Given the description of an element on the screen output the (x, y) to click on. 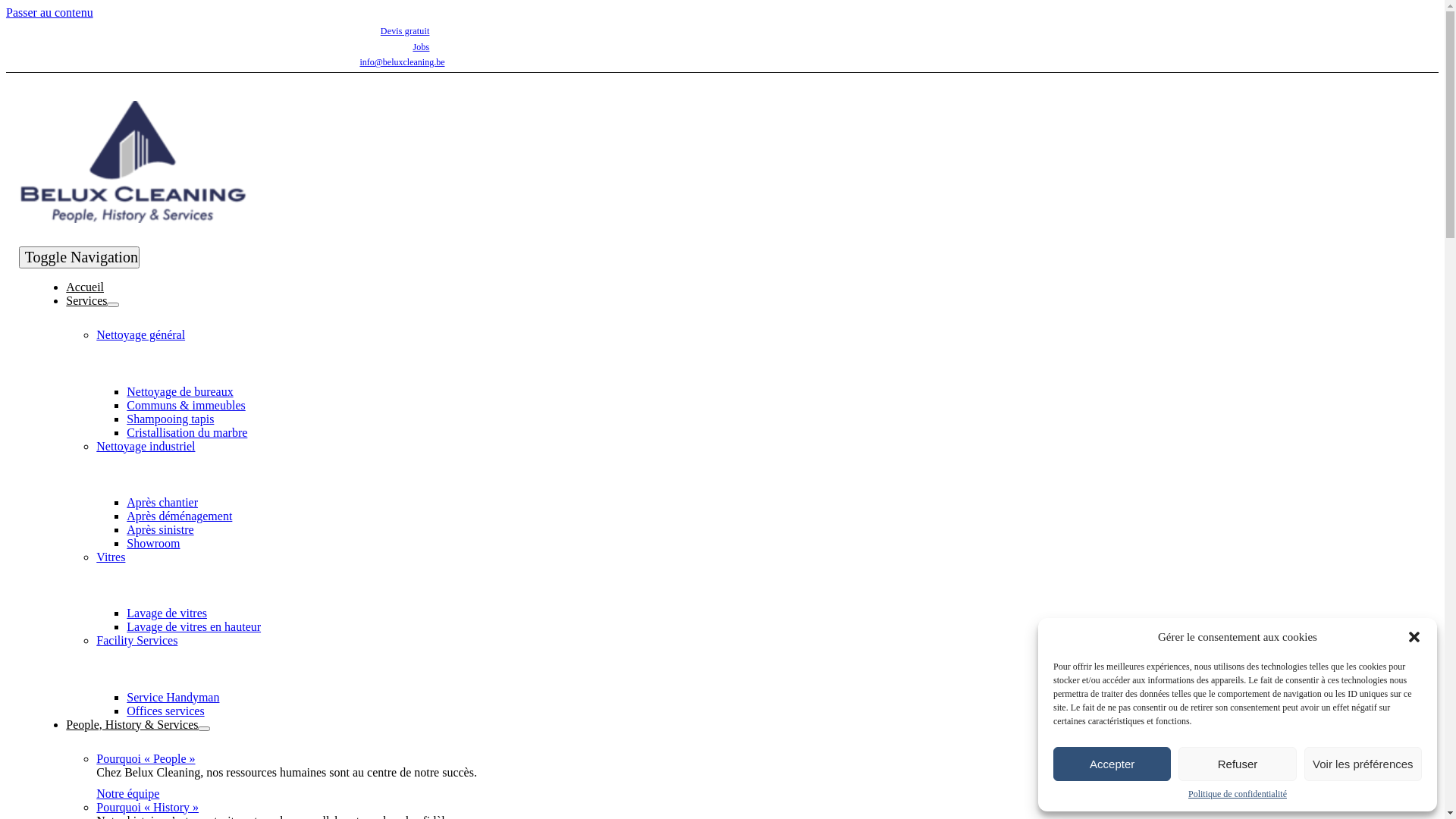
Toggle Navigation Element type: text (78, 257)
Vitres Element type: text (110, 556)
Facility Services Element type: text (136, 639)
Nettoyage industriel Element type: text (145, 445)
Offices services Element type: text (164, 709)
Passer au contenu Element type: text (49, 12)
Communs & immeubles Element type: text (185, 404)
Shampooing tapis Element type: text (169, 418)
Lavage de vitres en hauteur Element type: text (193, 626)
Showroom Element type: text (152, 542)
Accueil Element type: text (84, 286)
Nettoyage de bureaux Element type: text (179, 391)
Service Handyman Element type: text (172, 696)
Services Element type: text (85, 300)
Cristallisation du marbre Element type: text (186, 432)
Lavage de vitres Element type: text (166, 612)
Refuser Element type: text (1236, 763)
Accepter Element type: text (1111, 763)
People, History & Services Element type: text (131, 723)
Devis gratuit Element type: text (404, 30)
info@beluxcleaning.be Element type: text (401, 62)
Jobs Element type: text (420, 46)
